Given the description of an element on the screen output the (x, y) to click on. 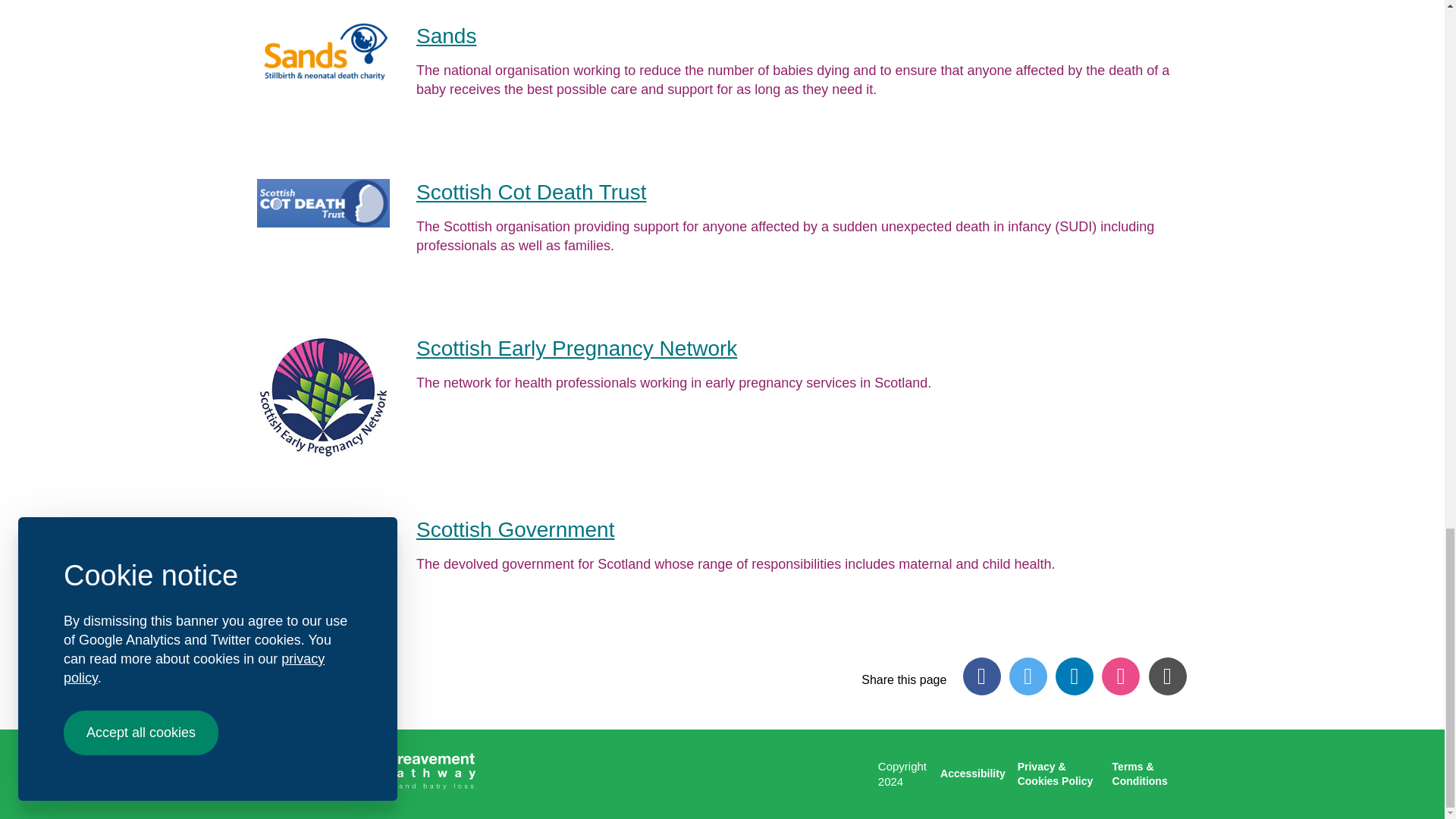
Sands (446, 35)
Go to www.gov.scot (515, 529)
Scottish Cot Death Trust (531, 191)
Go to scottishcotdeathtrust.org (531, 191)
